Given the description of an element on the screen output the (x, y) to click on. 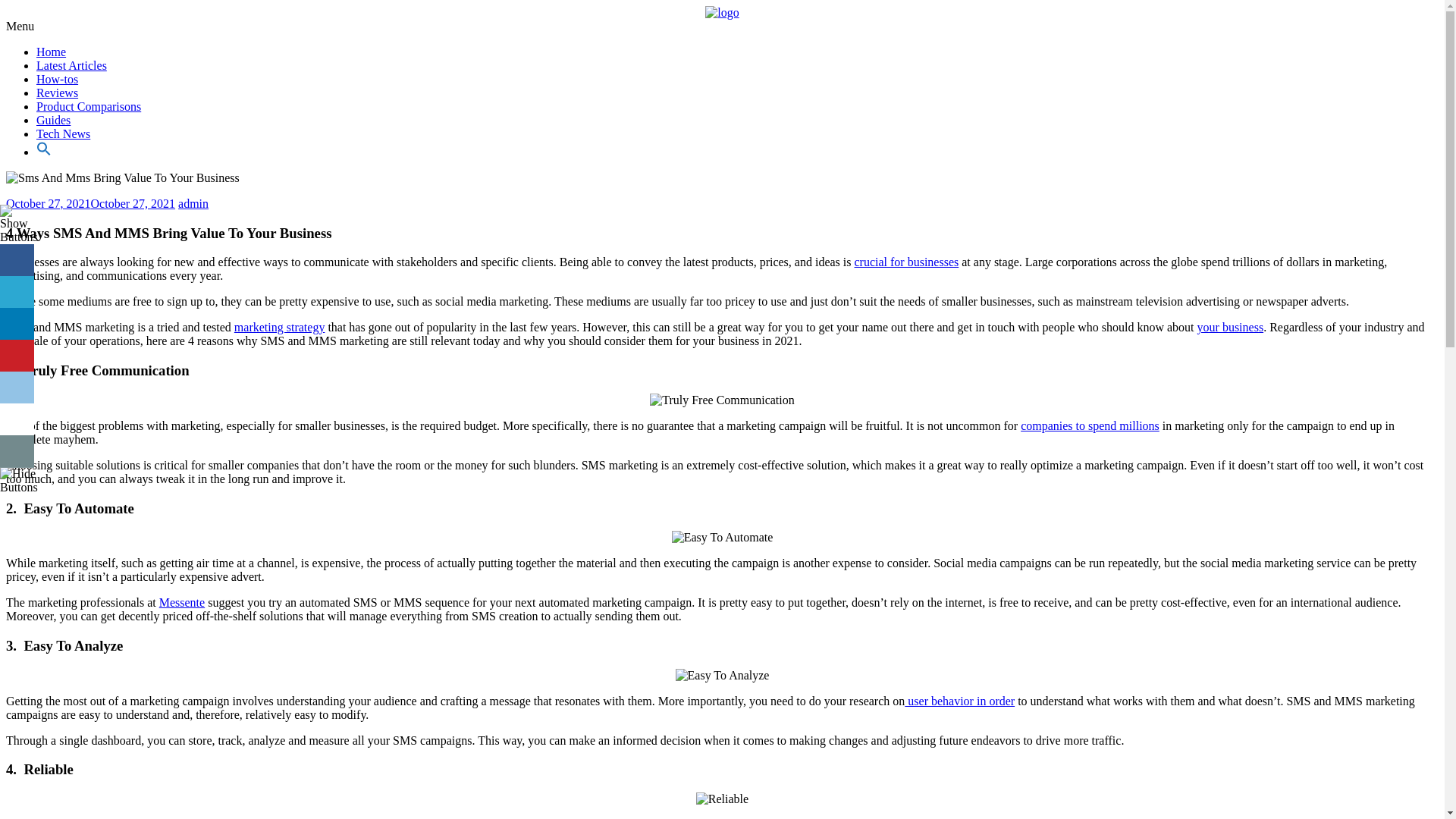
Techlectual (64, 49)
Messente (181, 602)
Contact us (16, 450)
Guides (52, 119)
Share On Linkedin (16, 323)
Hide Buttons (18, 486)
your business (1229, 327)
 user behavior in order (959, 700)
Share On Pinterest (16, 355)
Product Comparisons (88, 106)
How-tos (57, 78)
Share On Twitter (16, 292)
Show Buttons (18, 236)
Share On Reddit (16, 387)
